Given the description of an element on the screen output the (x, y) to click on. 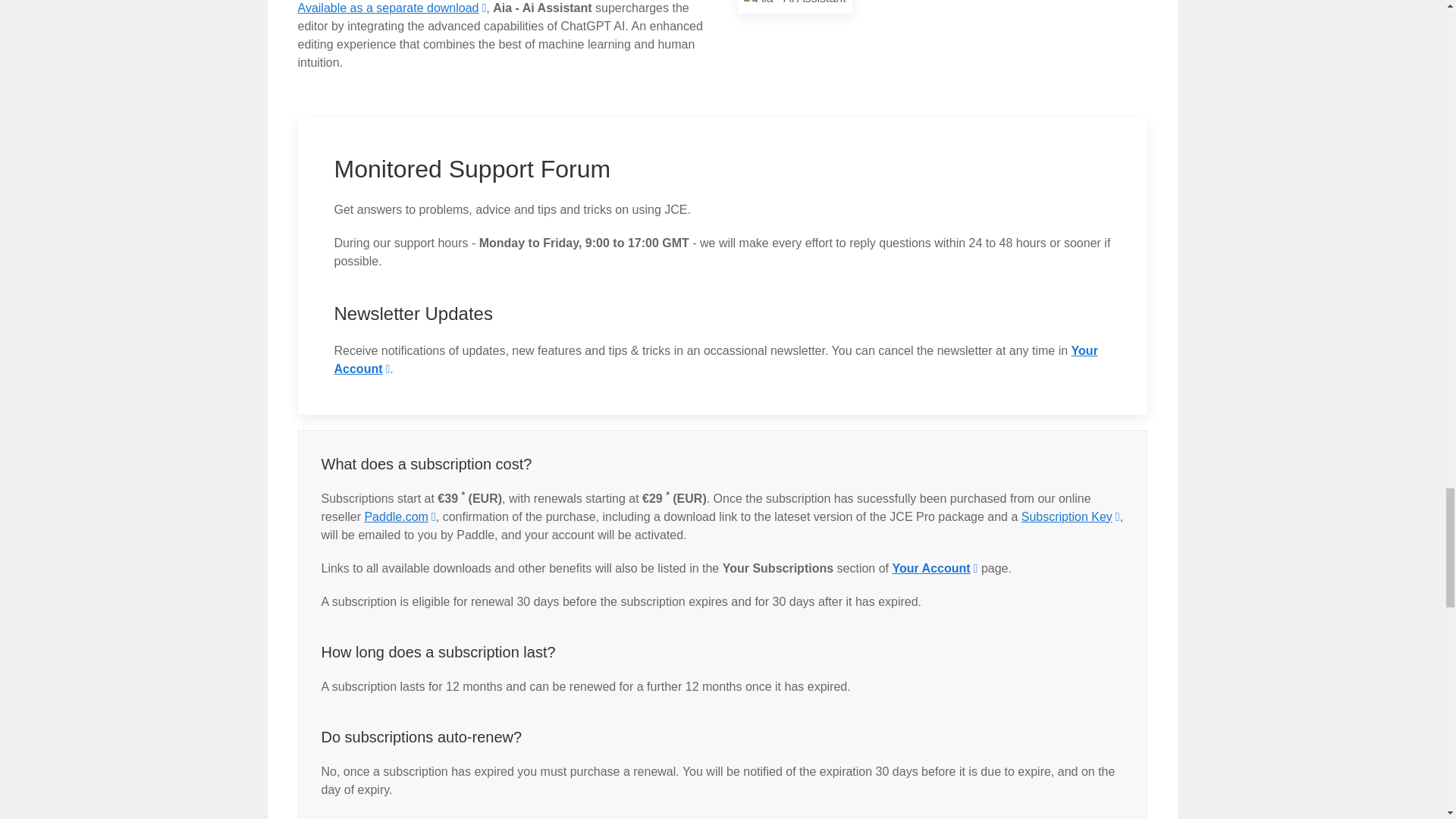
Paddle (399, 515)
Paddle.com (399, 515)
The subscription key (1070, 515)
Available as a separate download (391, 7)
Your Account (715, 359)
Your Account (933, 567)
Your Account (933, 567)
Subscription Key (1070, 515)
Your Account (715, 359)
